Given the description of an element on the screen output the (x, y) to click on. 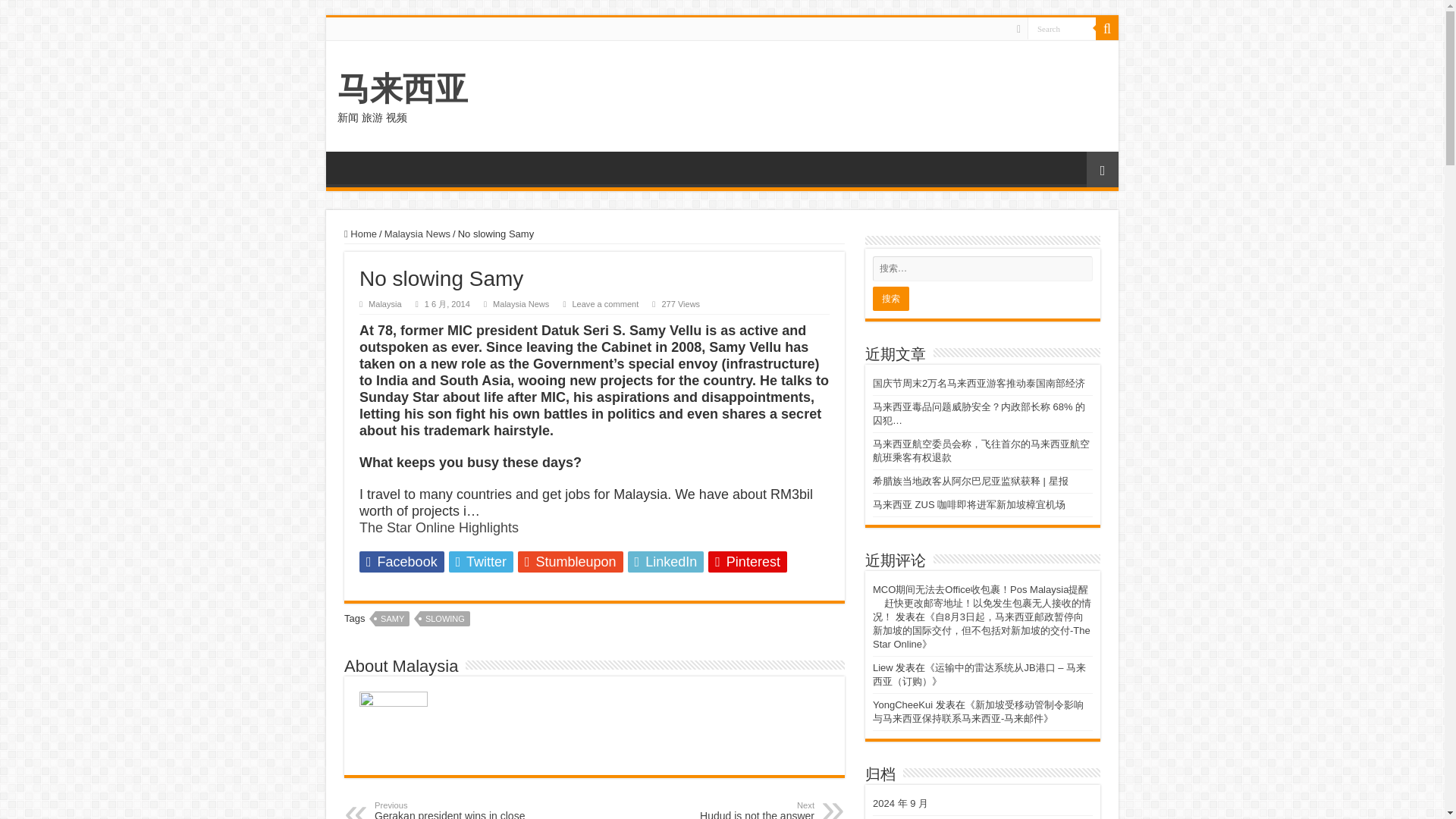
Malaysia News (416, 233)
LinkedIn (665, 561)
Search (1107, 28)
Liew (882, 667)
Leave a comment (736, 809)
Stumbleupon (605, 303)
Search (570, 561)
Malaysia News (1061, 28)
